Given the description of an element on the screen output the (x, y) to click on. 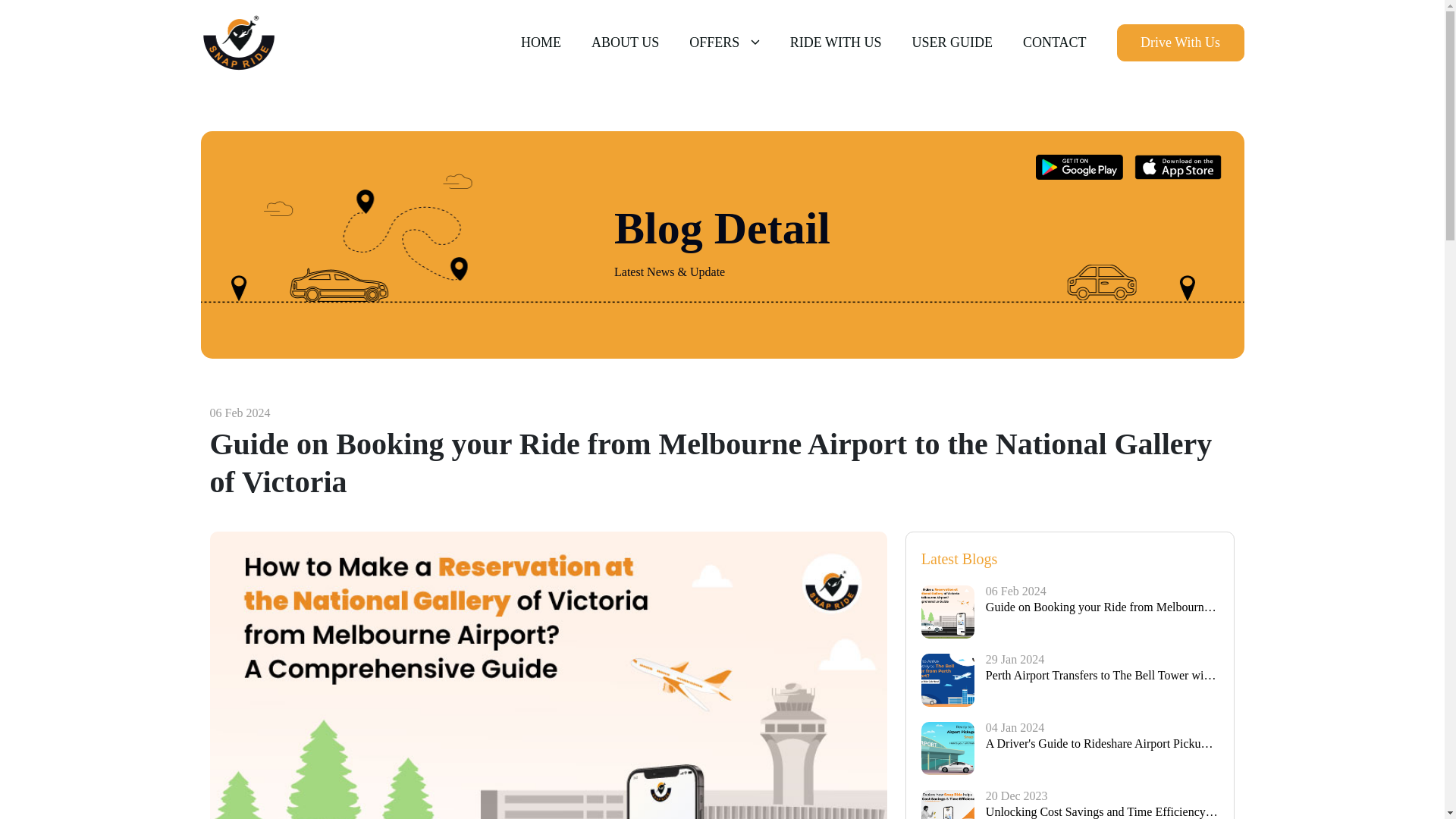
A Driver's Guide to Rideshare Airport Pickup Procedures (1102, 742)
RIDE WITH US (836, 42)
Snap-Ride (238, 42)
Drive With Us (1179, 42)
CONTACT (1054, 42)
ABOUT US (625, 42)
HOME (540, 42)
OFFERS (724, 42)
Unlocking Cost Savings and Time Efficiency with Snap Ride (1102, 810)
USER GUIDE (951, 42)
